Given the description of an element on the screen output the (x, y) to click on. 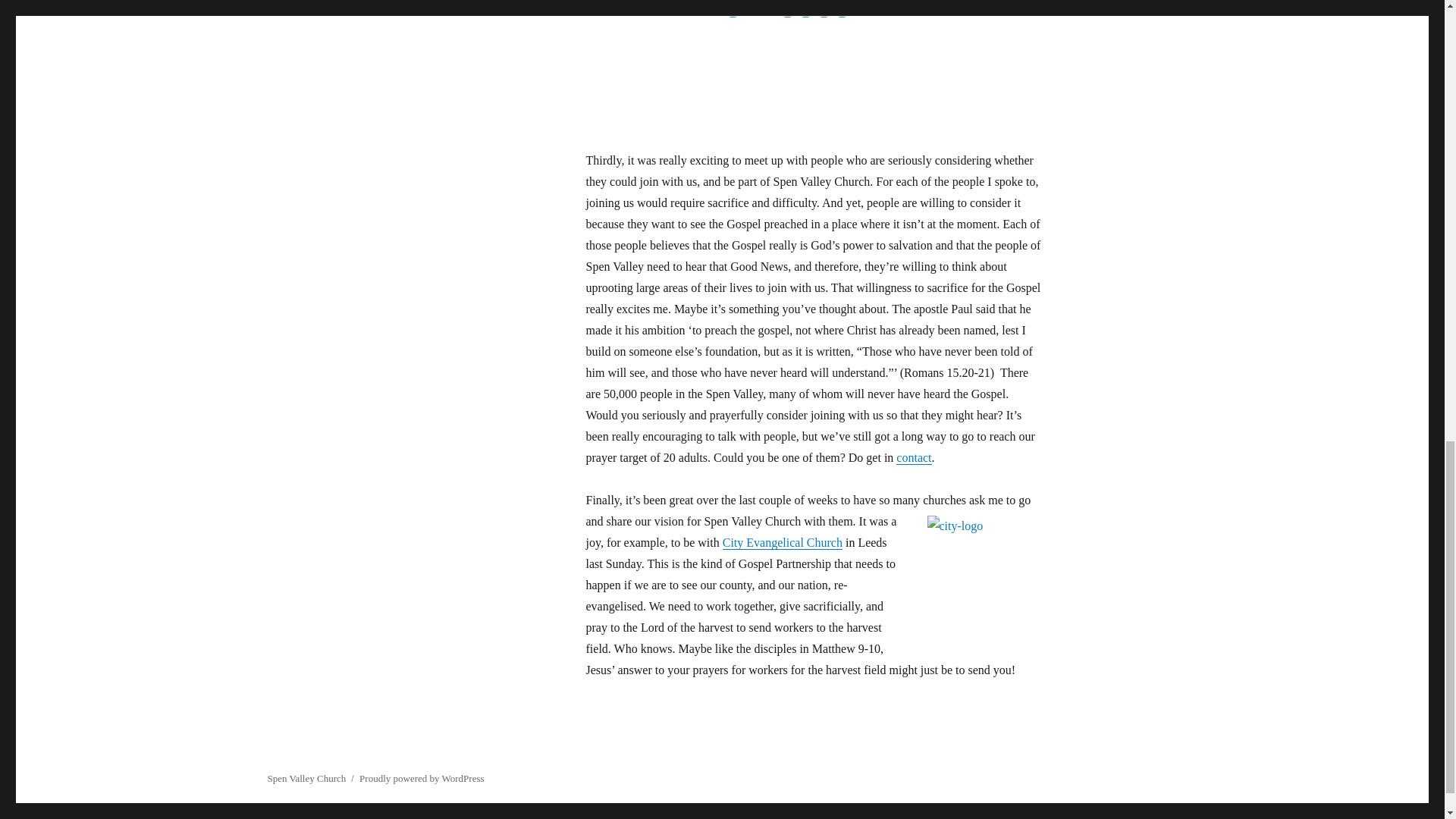
Proudly powered by WordPress (421, 778)
contact (913, 457)
City Evangelical Church (782, 542)
Spen Valley Church (306, 778)
